Given the description of an element on the screen output the (x, y) to click on. 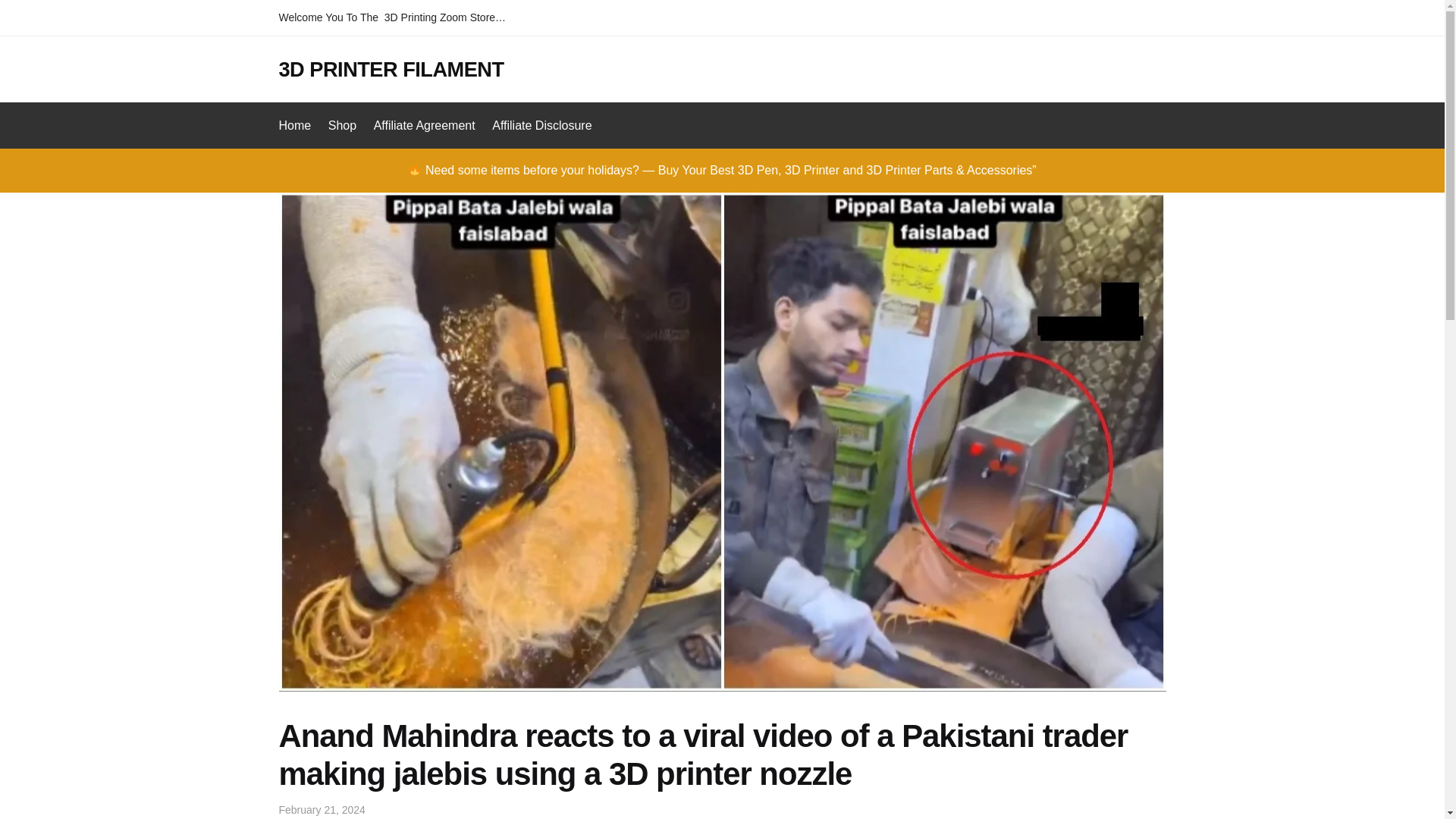
3D PRINTER FILAMENT (391, 69)
Affiliate Disclosure (541, 125)
Shop (341, 125)
Affiliate Agreement (423, 125)
